Given the description of an element on the screen output the (x, y) to click on. 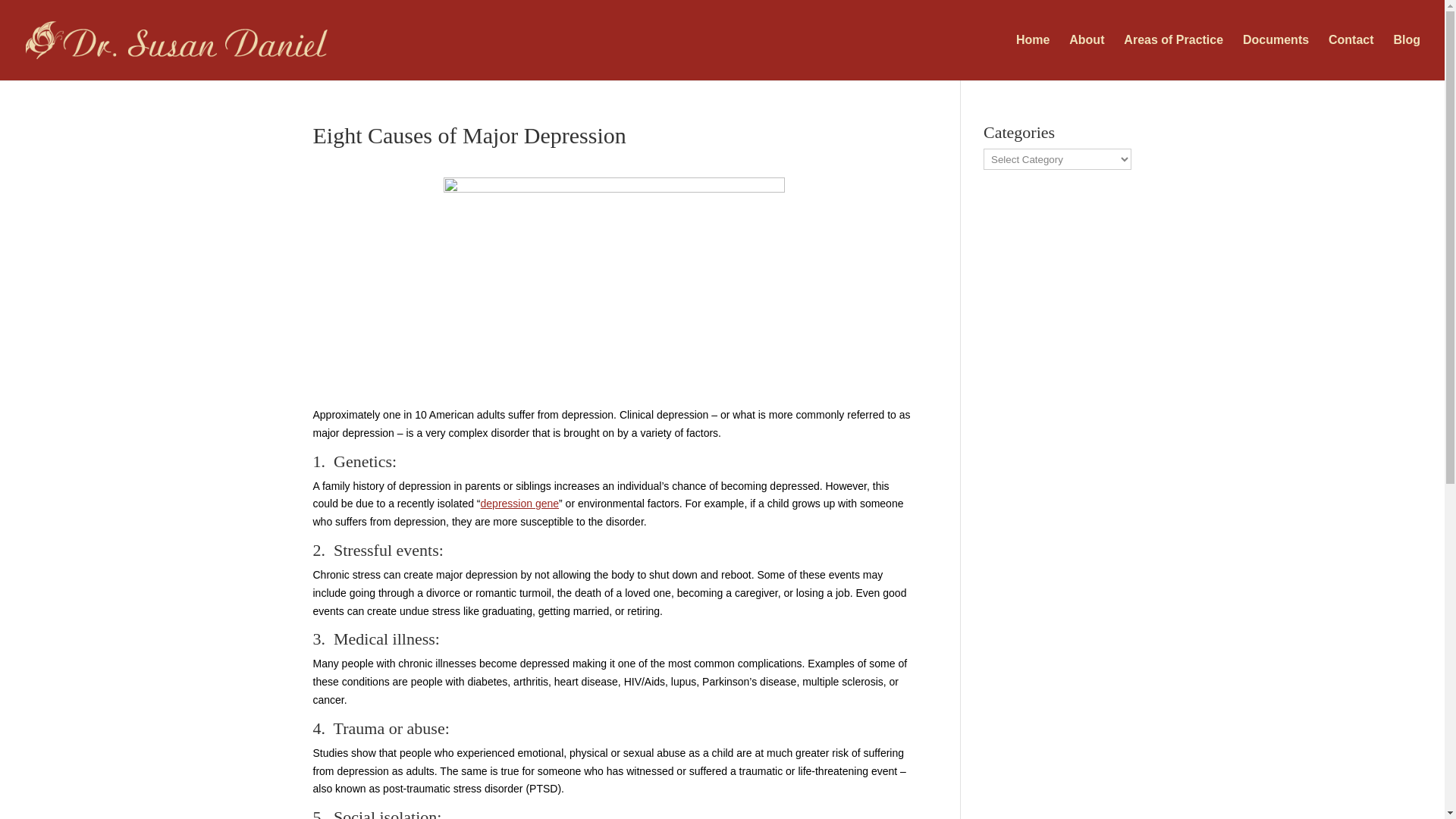
Contact (1350, 57)
Documents (1275, 57)
depression gene (519, 503)
Areas of Practice (1173, 57)
